Given the description of an element on the screen output the (x, y) to click on. 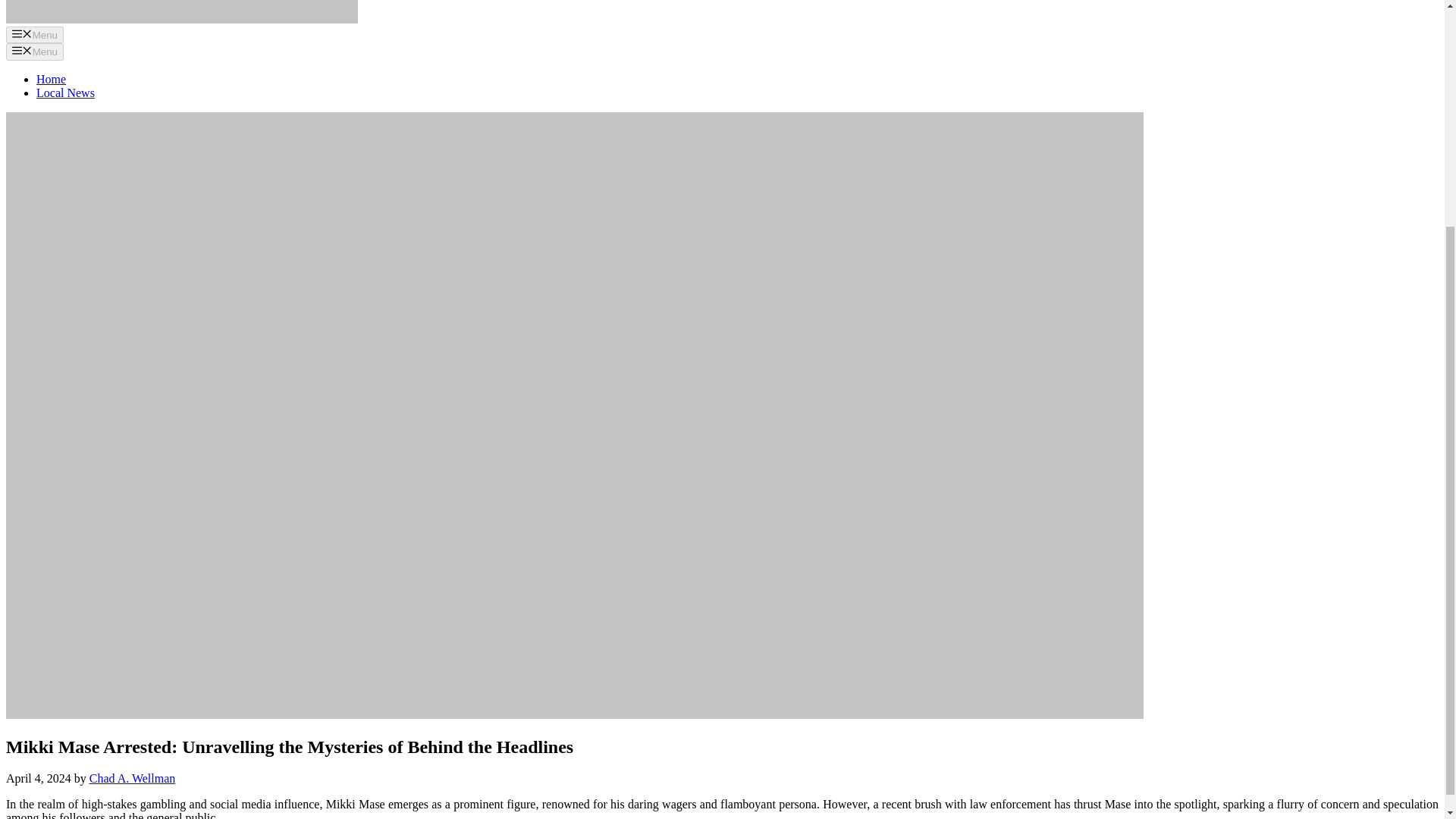
Local News (65, 92)
Menu (34, 51)
Chad A. Wellman (132, 778)
Menu (34, 34)
View all posts by Chad A. Wellman (132, 778)
Home (50, 78)
